Given the description of an element on the screen output the (x, y) to click on. 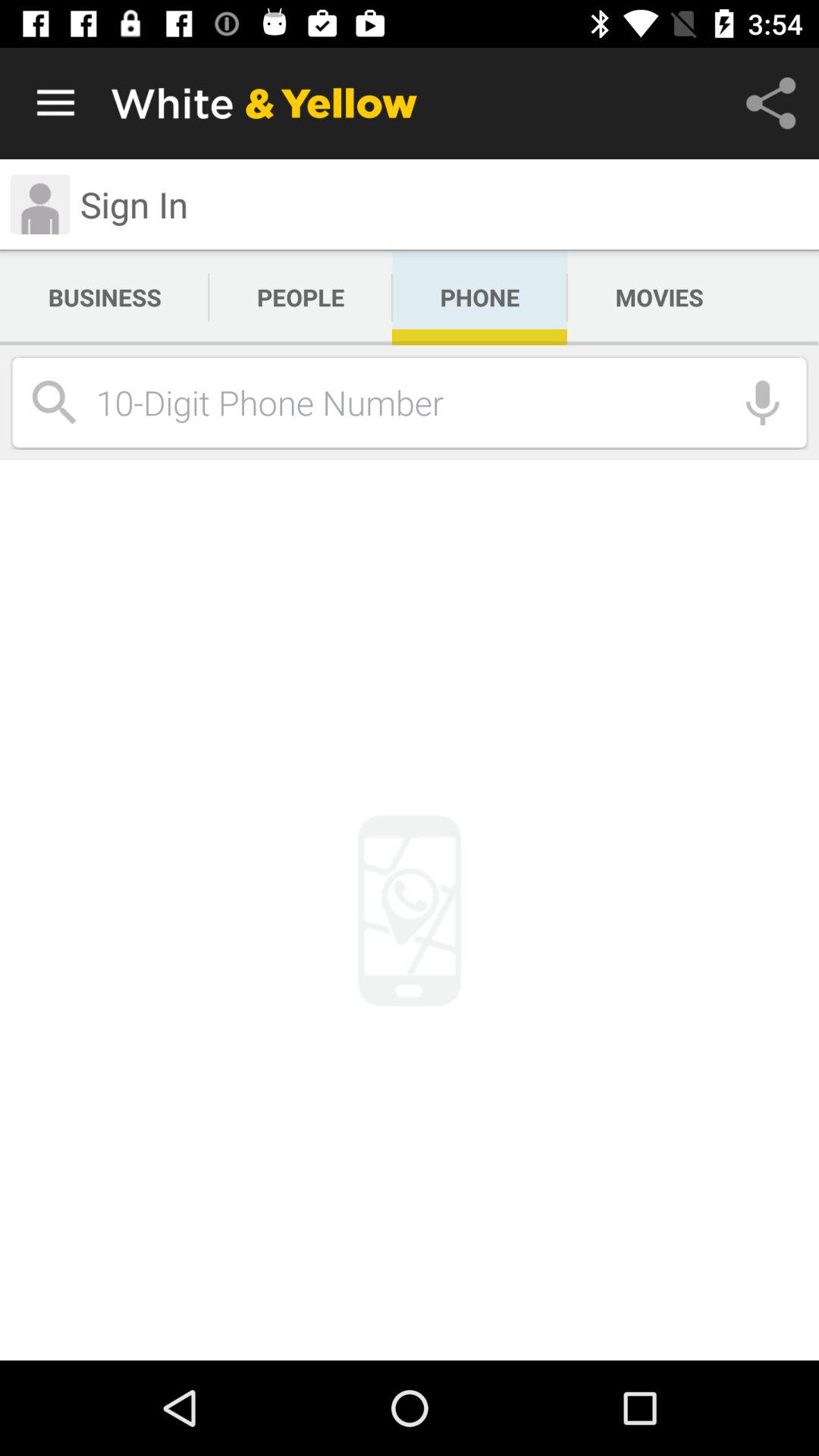
swipe to movies (659, 297)
